Given the description of an element on the screen output the (x, y) to click on. 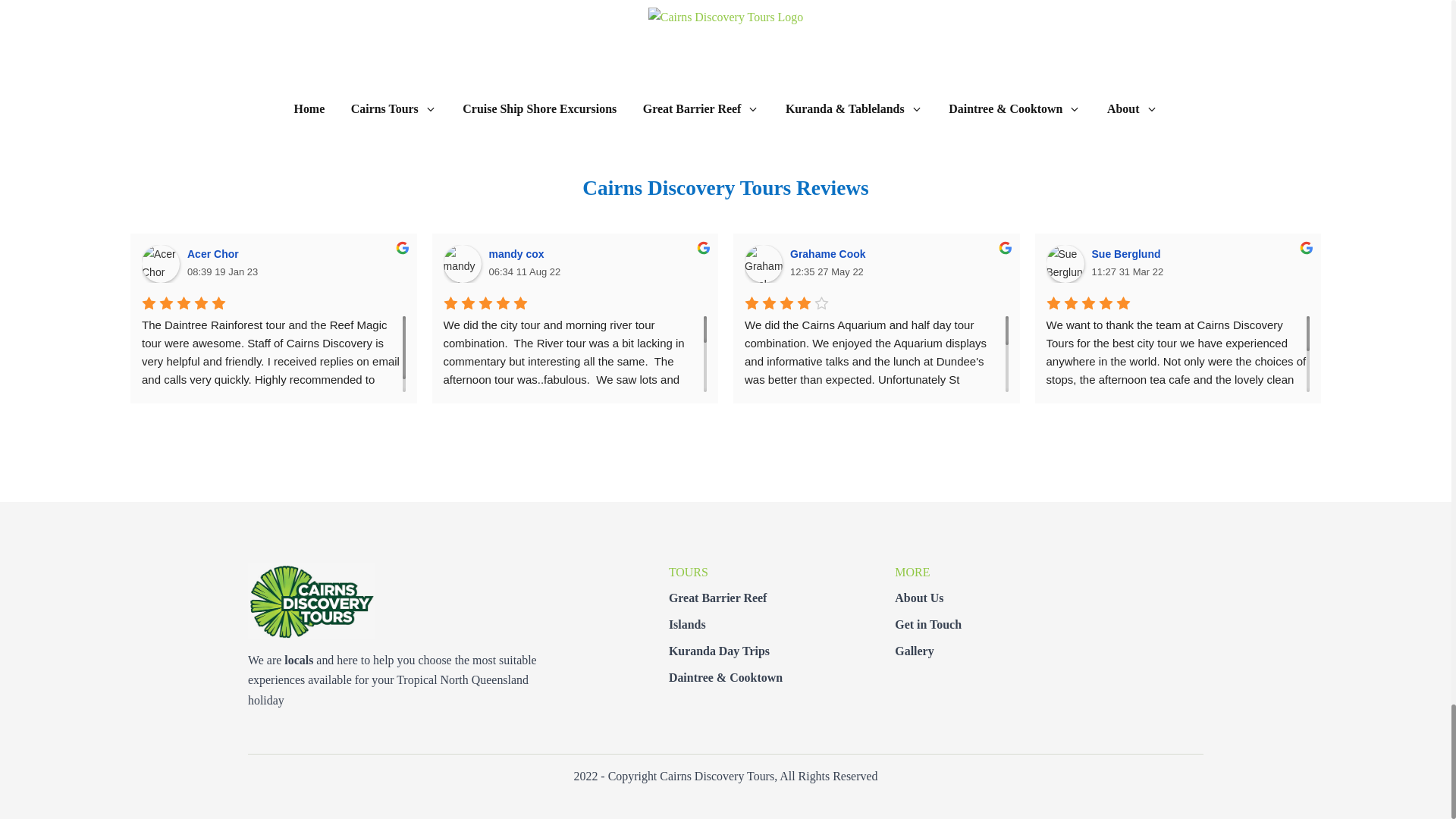
Heather Cooney (1367, 263)
Sue Berglund (1065, 263)
Acer Chor (160, 263)
mandy cox (461, 263)
Grahame Cook (763, 263)
